Given the description of an element on the screen output the (x, y) to click on. 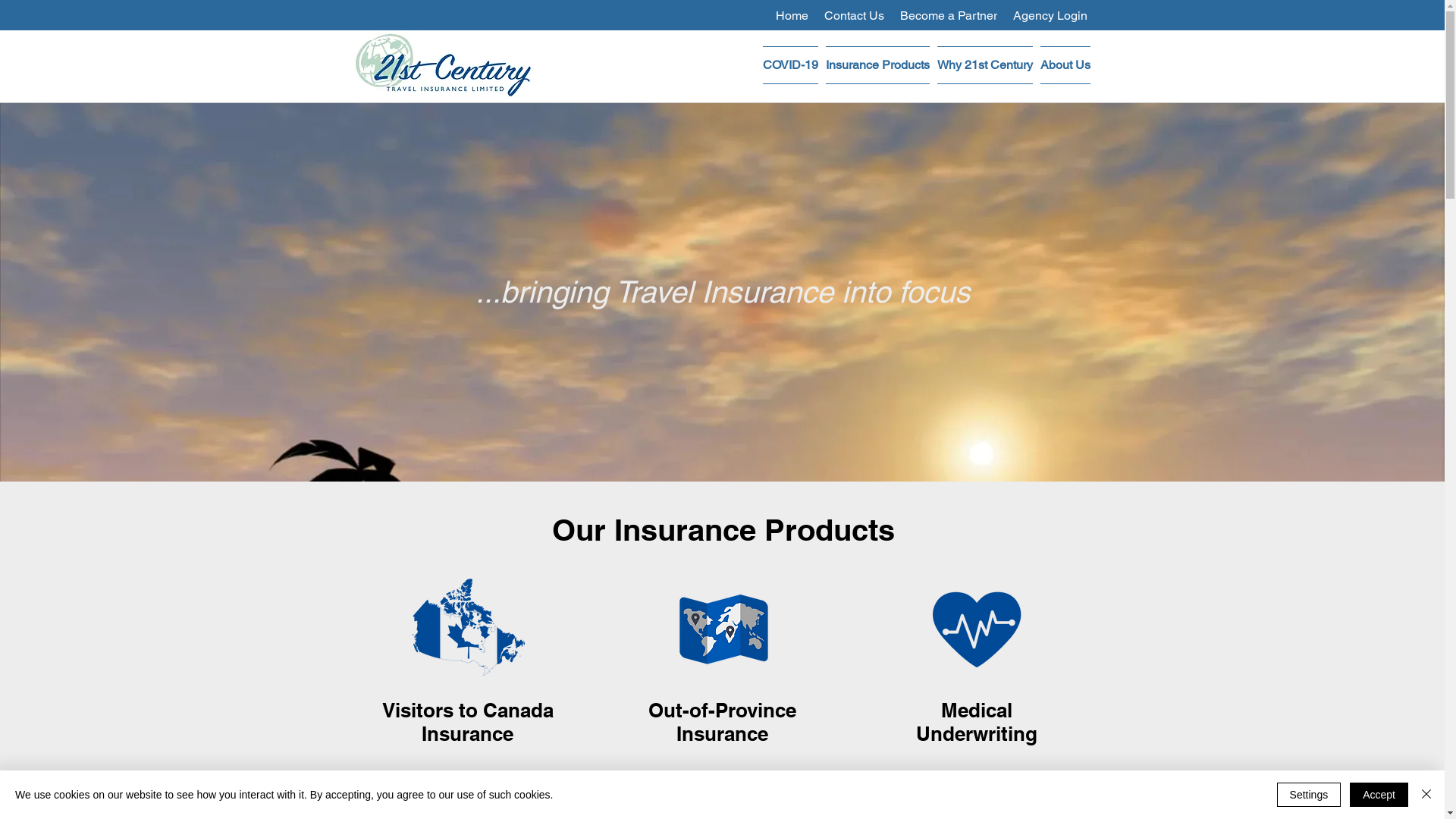
Contact Us Element type: text (854, 14)
Accept Element type: text (1378, 794)
Home Element type: text (791, 14)
Settings Element type: text (1309, 794)
Insurance Products Element type: text (877, 65)
About Us Element type: text (1062, 65)
Become a Partner Element type: text (947, 14)
COVID-19 Element type: text (789, 65)
Why 21st Century Element type: text (983, 65)
Agency Login Element type: text (1049, 14)
